Given the description of an element on the screen output the (x, y) to click on. 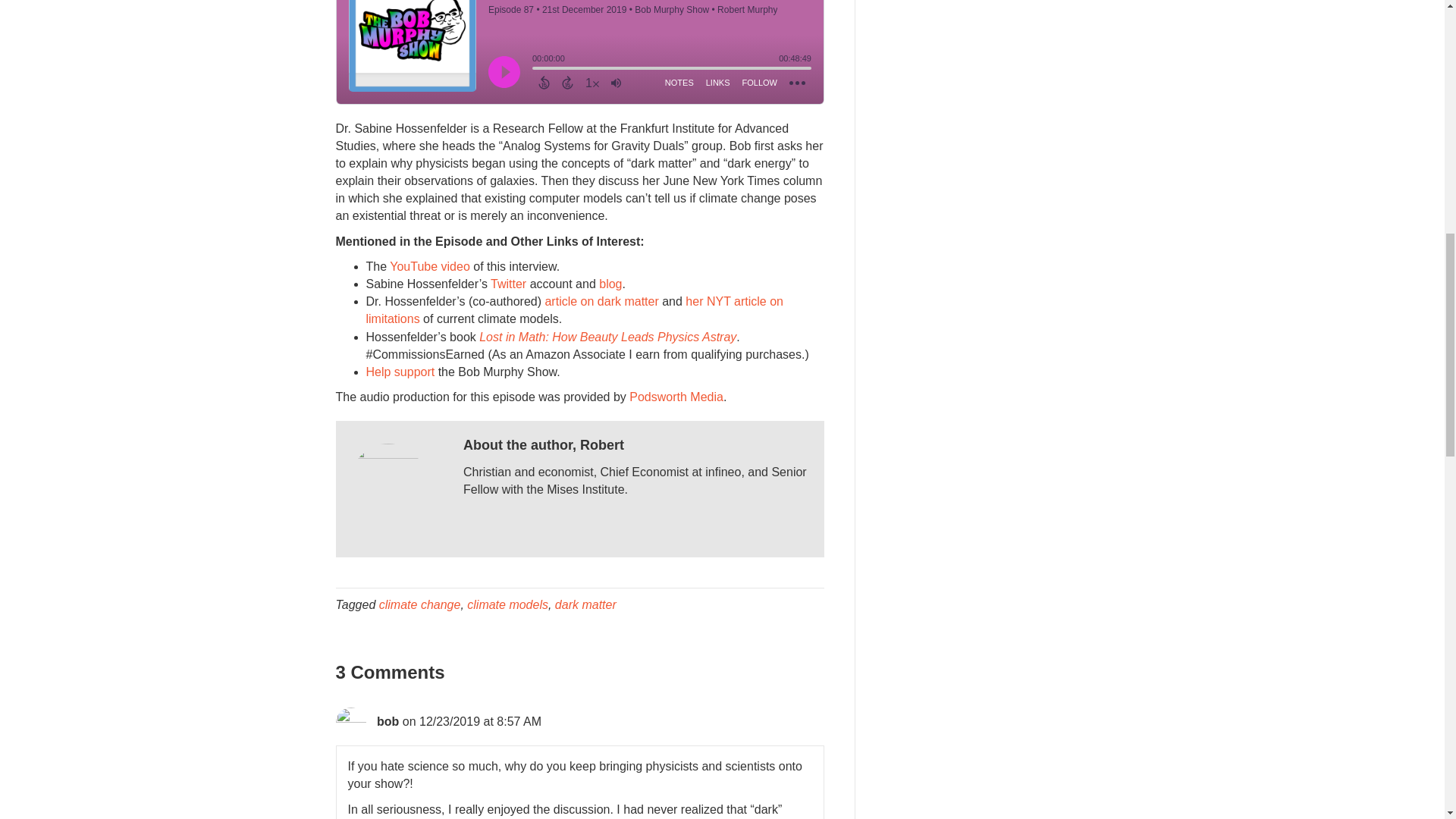
Twitter (507, 283)
climate change (419, 604)
Podsworth Media (675, 396)
YouTube video (430, 266)
her NYT article on limitations (574, 309)
Help support (399, 371)
Lost in Math: How Beauty Leads Physics Astray (607, 336)
dark matter (584, 604)
climate models (507, 604)
article on dark matter (601, 300)
blog (609, 283)
